Given the description of an element on the screen output the (x, y) to click on. 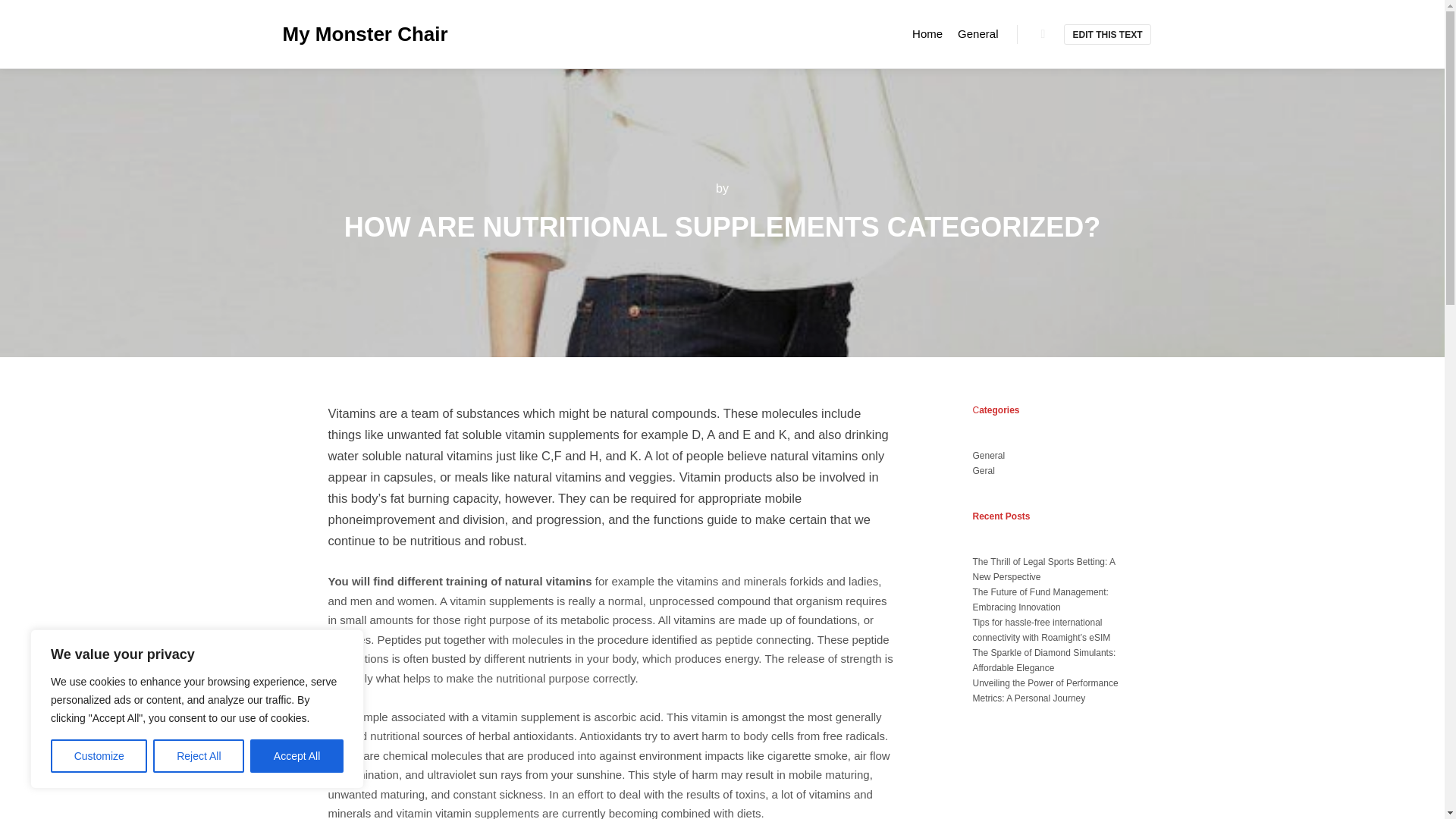
My Monster Chair (357, 33)
Home (927, 33)
Accept All (296, 756)
EDIT THIS TEXT (1107, 34)
General (988, 455)
My Monster Chair (357, 33)
Customize (98, 756)
The Thrill of Legal Sports Betting: A New Perspective (1043, 569)
Geral (983, 470)
The Future of Fund Management: Embracing Innovation (1040, 599)
General (978, 33)
Search (1043, 34)
Reject All (198, 756)
The Sparkle of Diamond Simulants: Affordable Elegance (1043, 660)
